Given the description of an element on the screen output the (x, y) to click on. 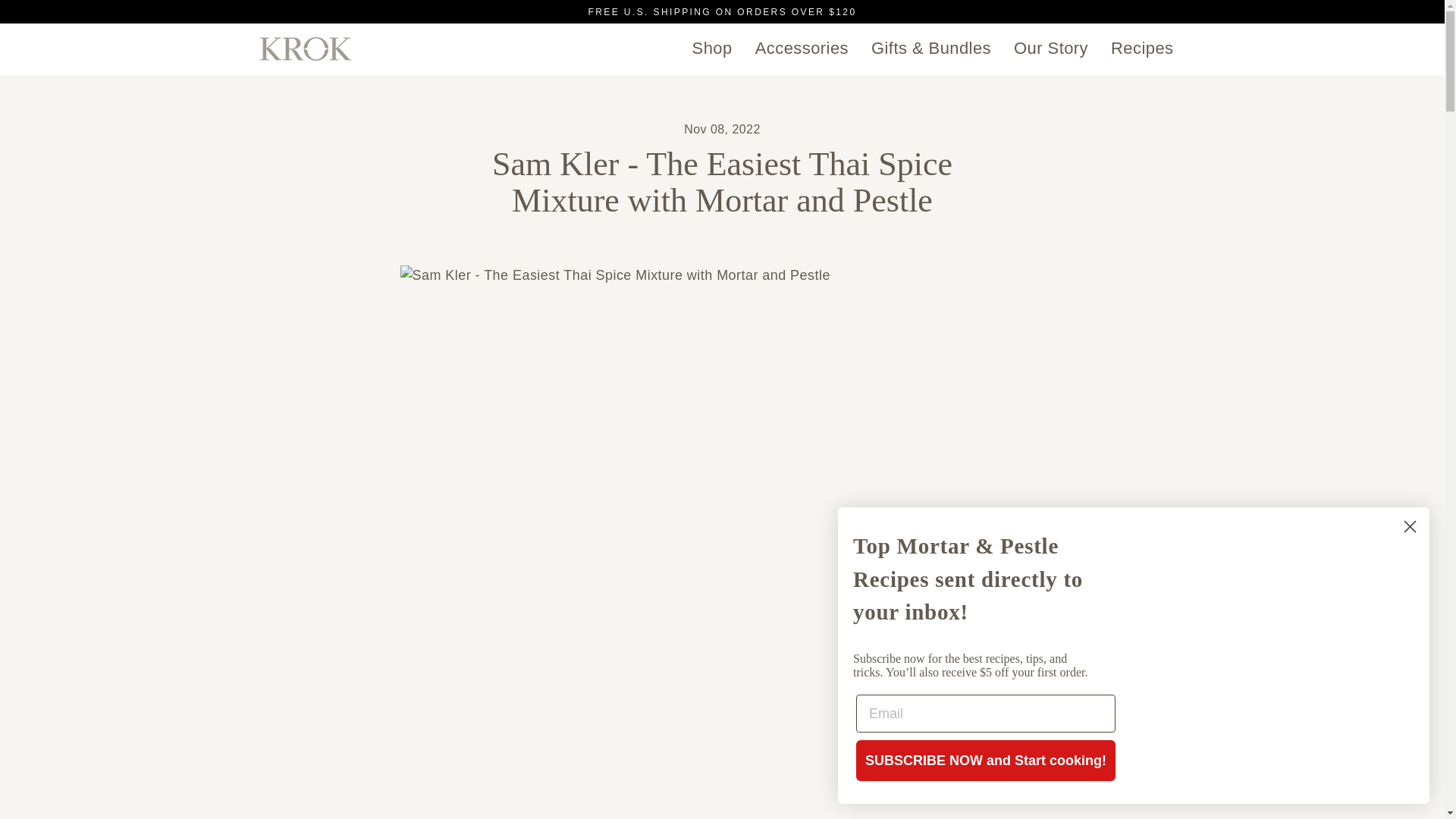
Recipes (1142, 49)
Our Story (1051, 49)
Shop (712, 49)
Accessories (802, 49)
